Given the description of an element on the screen output the (x, y) to click on. 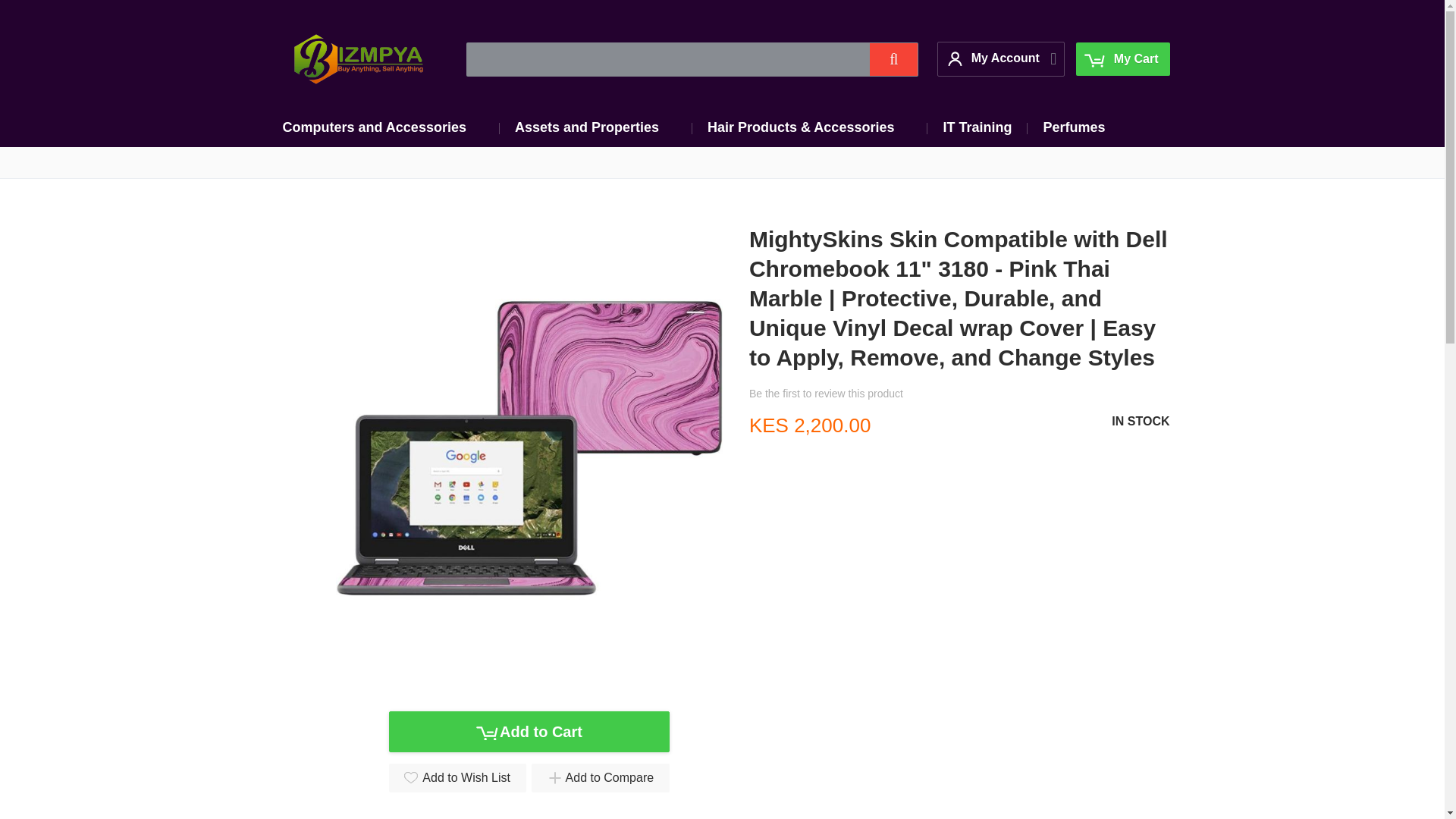
Availability (1140, 421)
Assets and Properties (595, 127)
My Account (994, 57)
Perfumes (1073, 127)
Search (893, 59)
Add to Cart (528, 731)
IT Training (976, 127)
My Cart (1122, 59)
Search (893, 59)
Computers and Accessories (381, 127)
My Account (994, 57)
Be the first to review this product (825, 393)
